Given the description of an element on the screen output the (x, y) to click on. 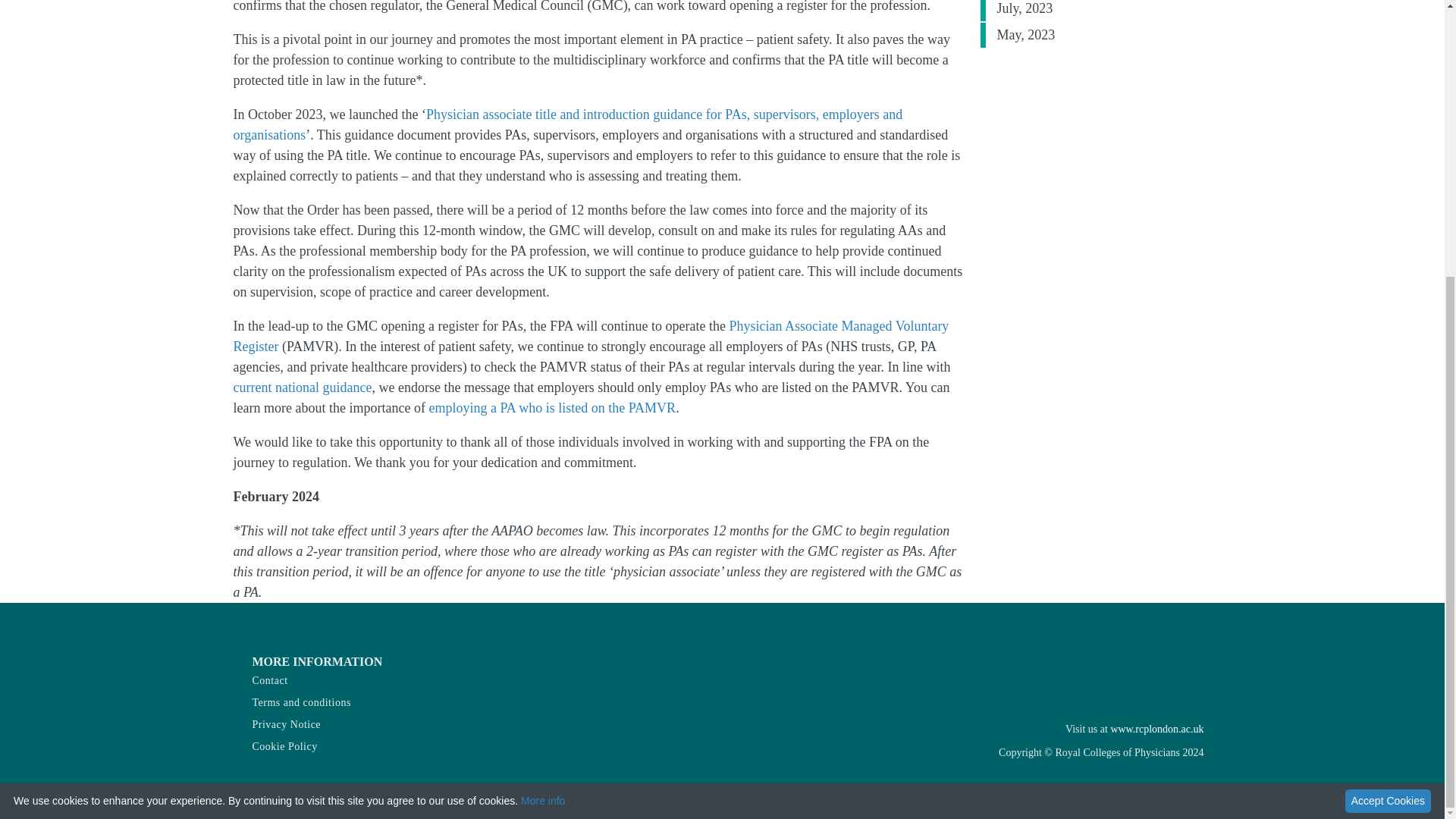
Royal College of Physicians (1156, 728)
